Given the description of an element on the screen output the (x, y) to click on. 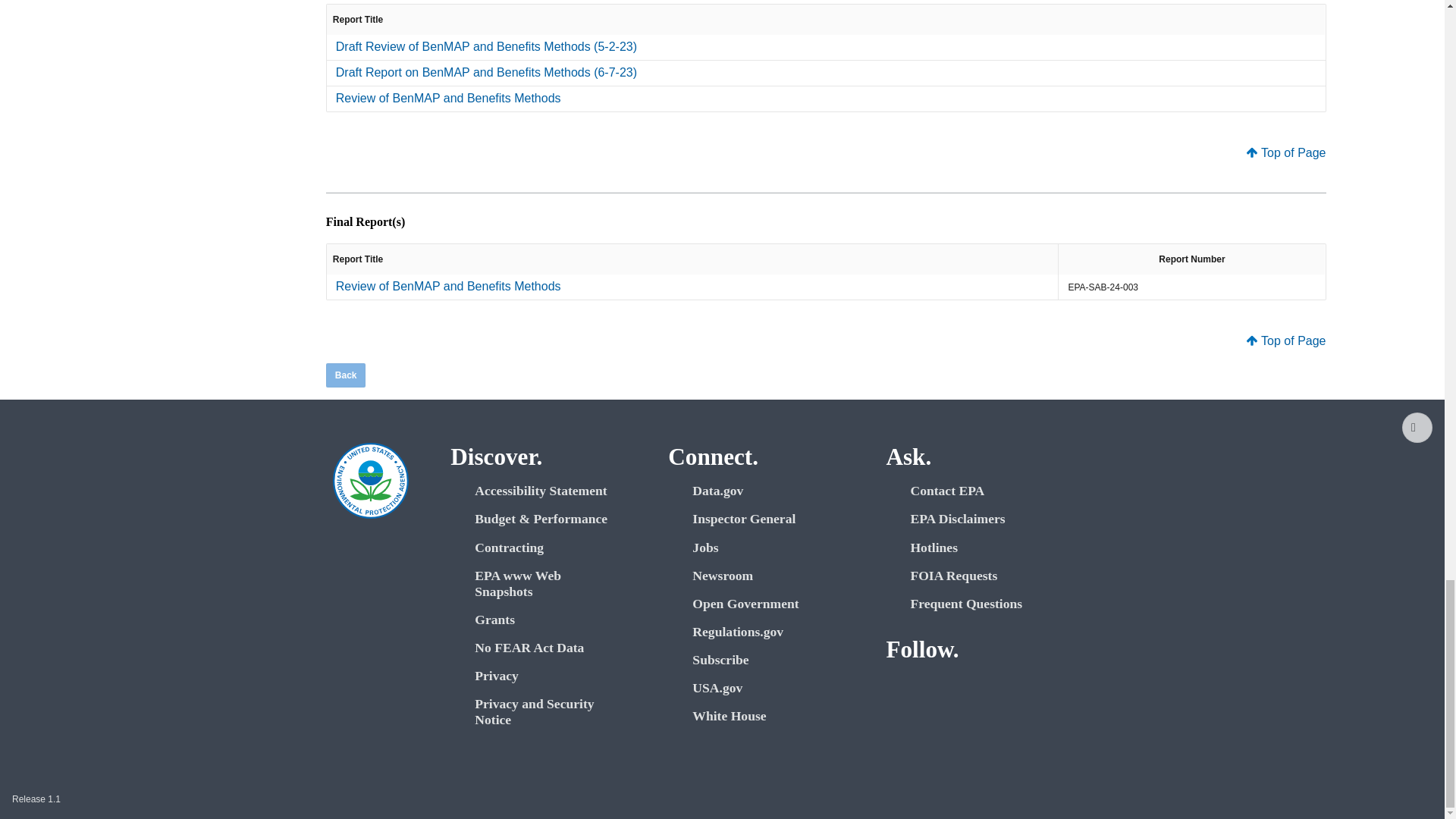
Start of page (1417, 427)
